Given the description of an element on the screen output the (x, y) to click on. 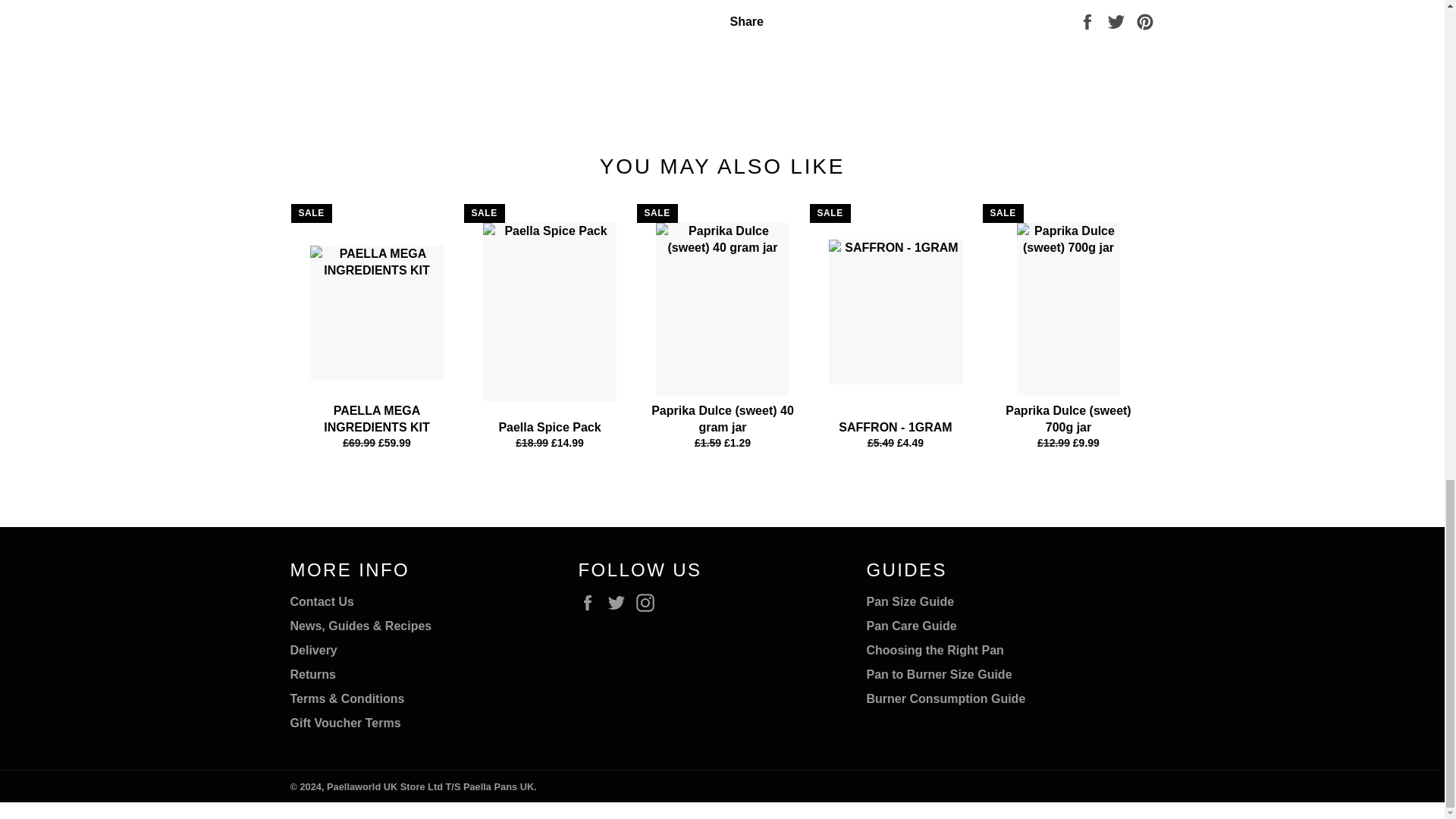
Share on Facebook (1088, 20)
Tweet on Twitter (1117, 20)
Pin on Pinterest (1144, 20)
